Given the description of an element on the screen output the (x, y) to click on. 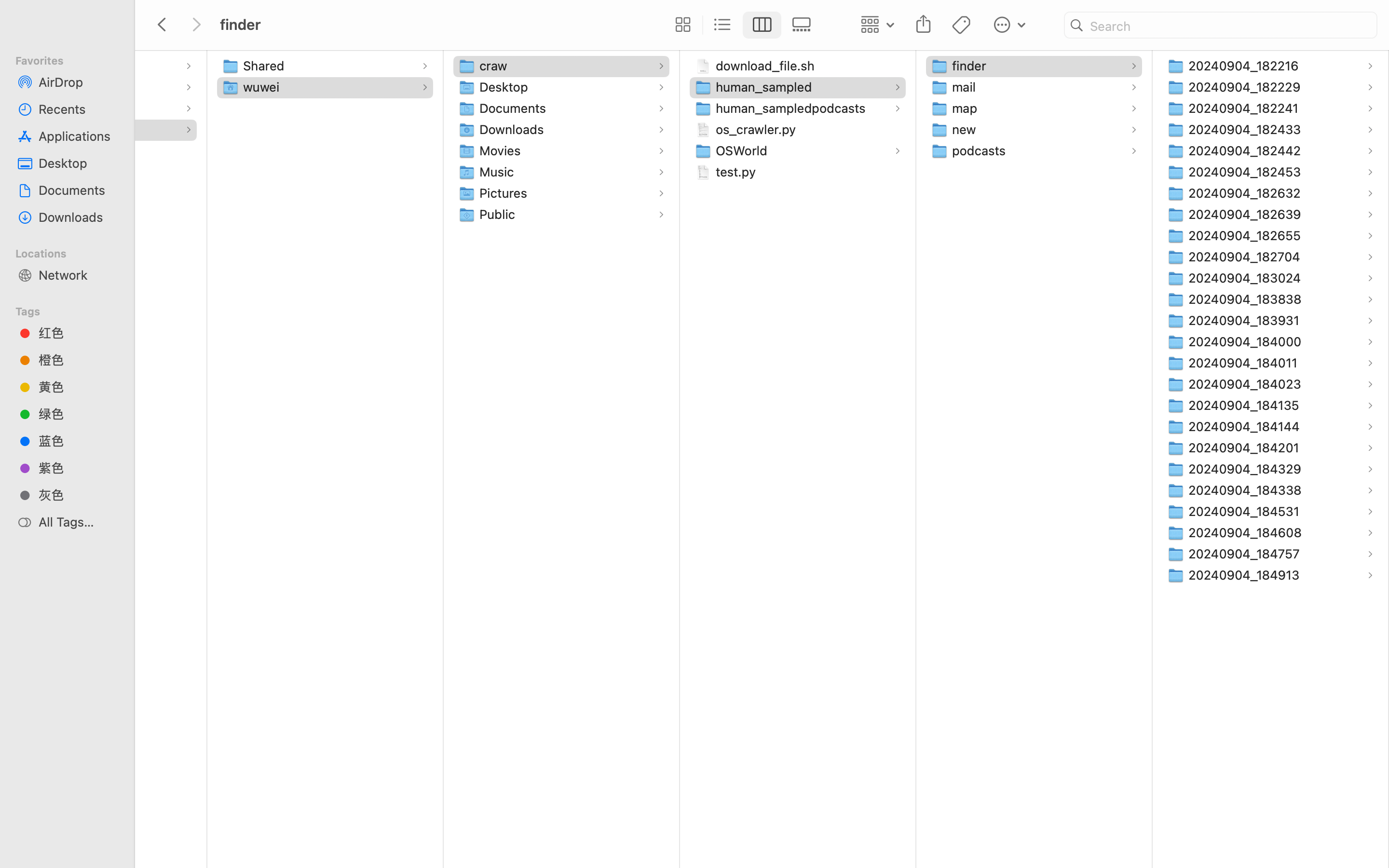
1 Element type: AXRadioButton (762, 24)
20240904_184135 Element type: AXTextField (1245, 404)
wuwei Element type: AXTextField (263, 86)
